Given the description of an element on the screen output the (x, y) to click on. 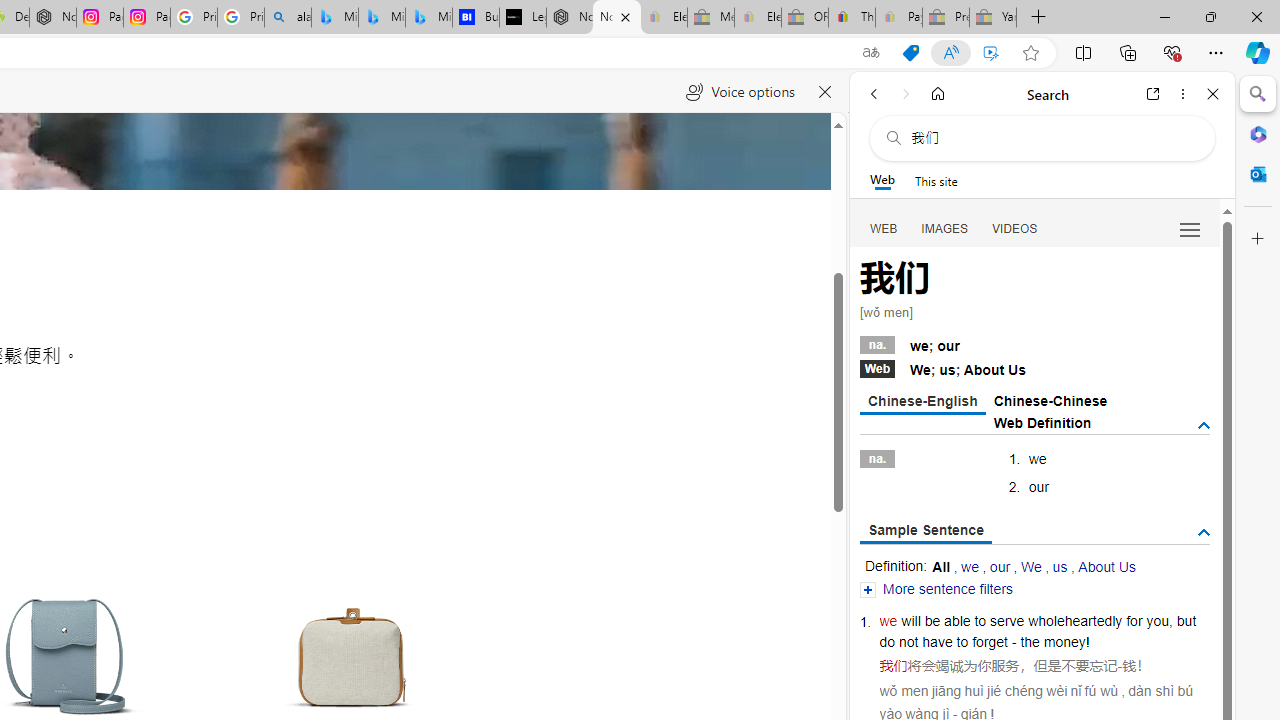
Chinese-English (922, 402)
for (1134, 620)
not (908, 642)
Payments Terms of Use | eBay.com - Sleeping (898, 17)
Press Room - eBay Inc. - Sleeping (945, 17)
- (1119, 665)
